Given the description of an element on the screen output the (x, y) to click on. 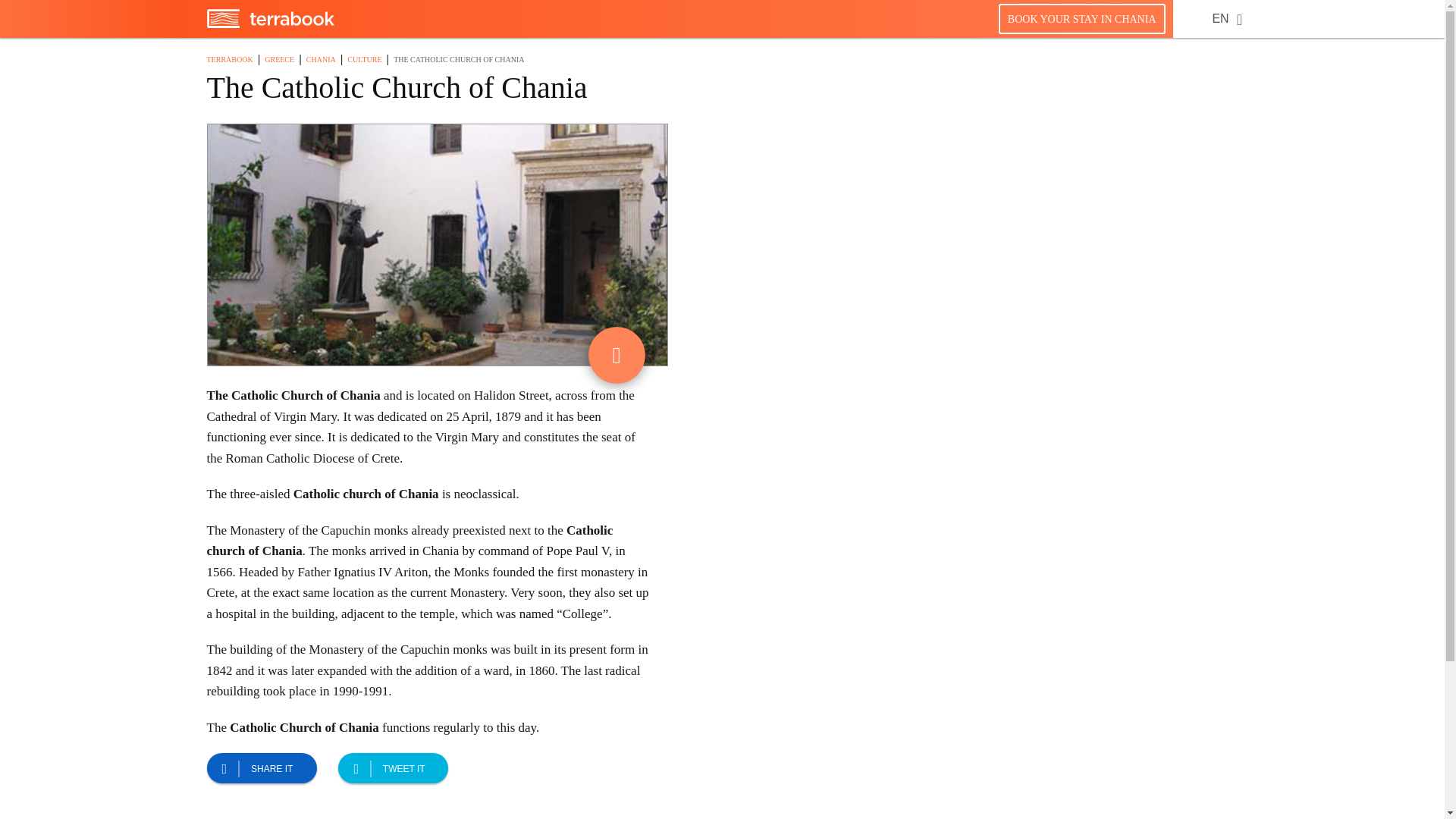
TERRABOOK (228, 59)
GREECE (279, 59)
Terrabook (269, 24)
TWEET IT (392, 767)
BOOK YOUR STAY IN CHANIA (1081, 18)
CULTURE (364, 59)
SHARE IT (260, 767)
Book your stay in Chania (1081, 18)
CHANIA (320, 59)
EN (1220, 18)
